Given the description of an element on the screen output the (x, y) to click on. 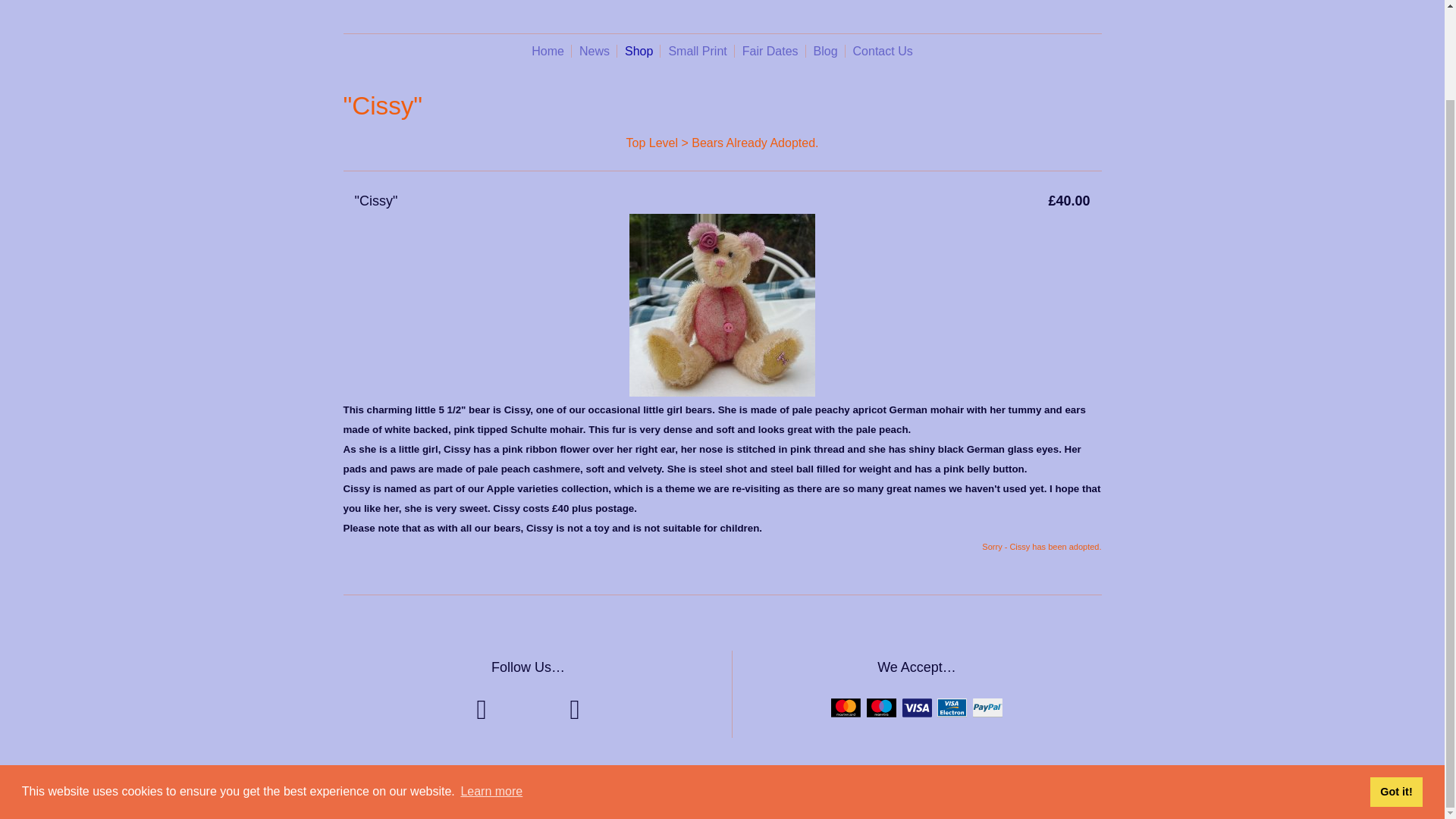
Contact Us (882, 50)
Haven Bears (722, 3)
Create (751, 789)
News (594, 50)
Blog (825, 50)
Top Level (652, 142)
Learn more (491, 688)
Fair Dates (770, 50)
Home (548, 50)
Shop (639, 50)
Small Print (697, 50)
Got it! (1396, 688)
Bears Already Adopted. (754, 142)
